Given the description of an element on the screen output the (x, y) to click on. 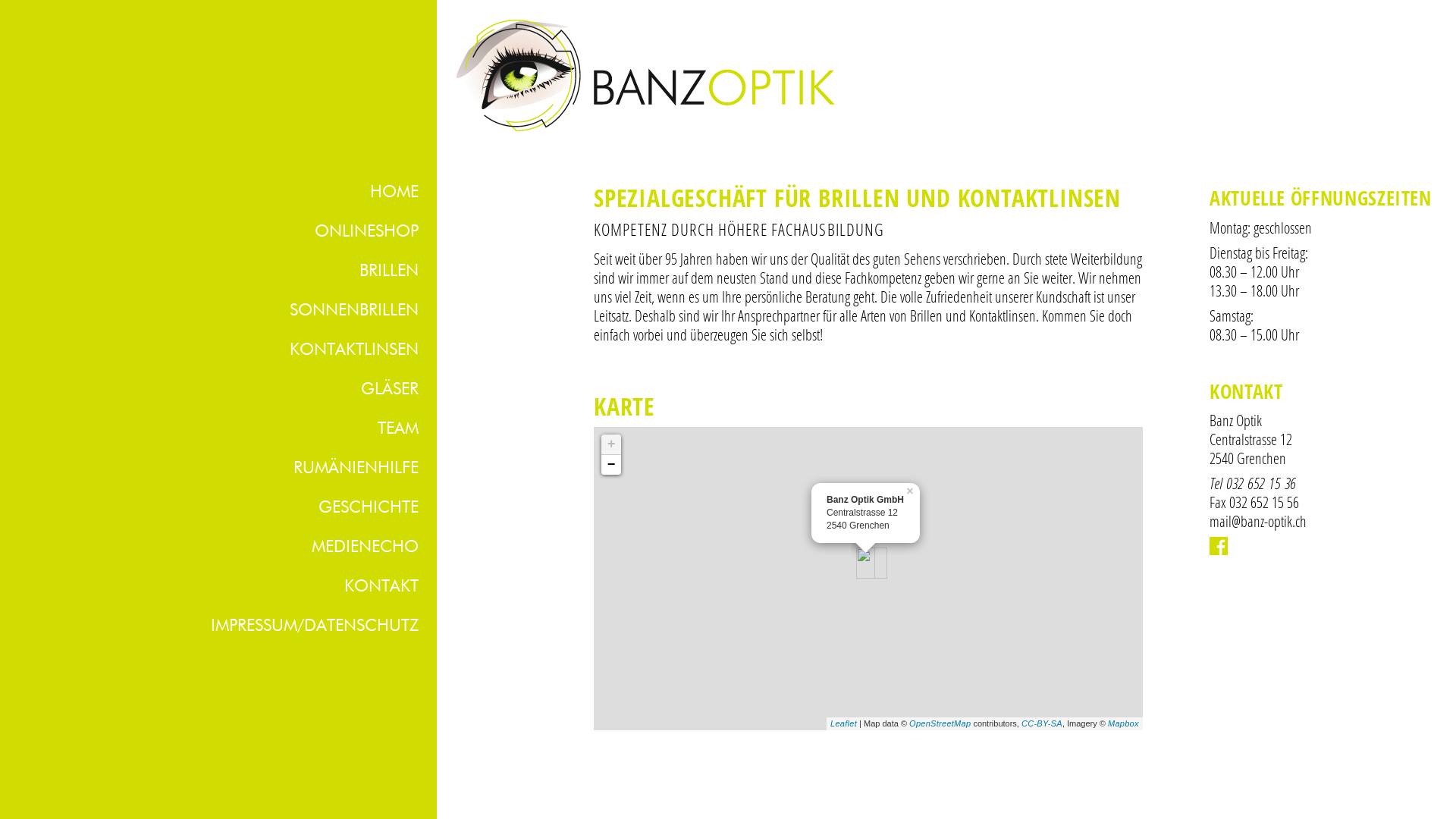
ONLINESHOP Element type: text (225, 231)
CC-BY-SA Element type: text (1041, 723)
HOME Element type: text (225, 192)
OpenStreetMap Element type: text (939, 723)
+ Element type: text (611, 444)
Mapbox Element type: text (1123, 723)
KONTAKTLINSEN Element type: text (225, 350)
KONTAKT Element type: text (225, 586)
IMPRESSUM/DATENSCHUTZ Element type: text (225, 626)
Leaflet Element type: text (843, 723)
MEDIENECHO Element type: text (225, 547)
Tel 032 652 15 36 Element type: text (1252, 482)
TEAM Element type: text (225, 428)
SONNENBRILLEN Element type: text (225, 310)
GESCHICHTE Element type: text (225, 507)
BRILLEN Element type: text (225, 271)
